Given the description of an element on the screen output the (x, y) to click on. 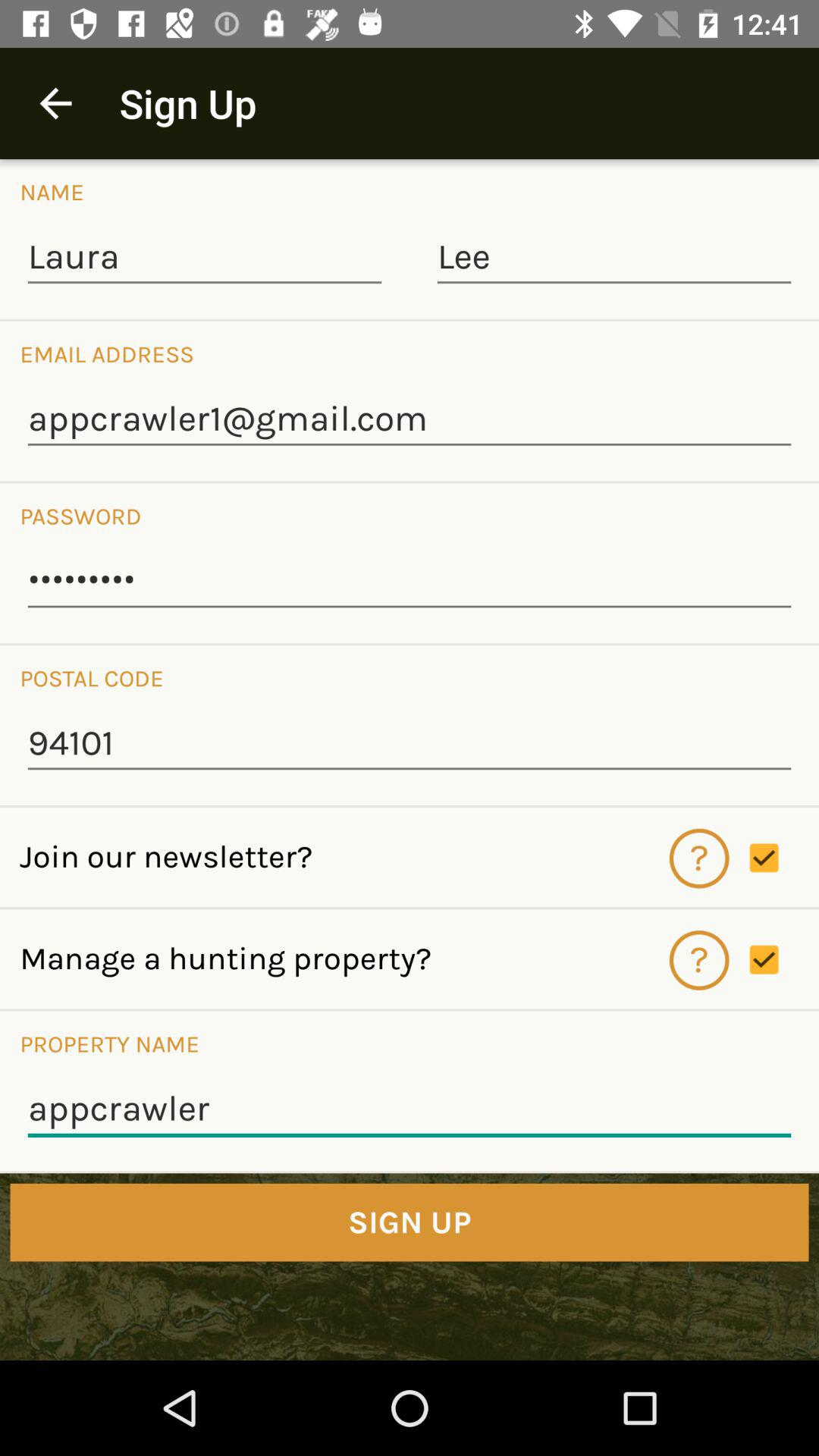
flip until the appcrawler1@gmail.com item (409, 419)
